Given the description of an element on the screen output the (x, y) to click on. 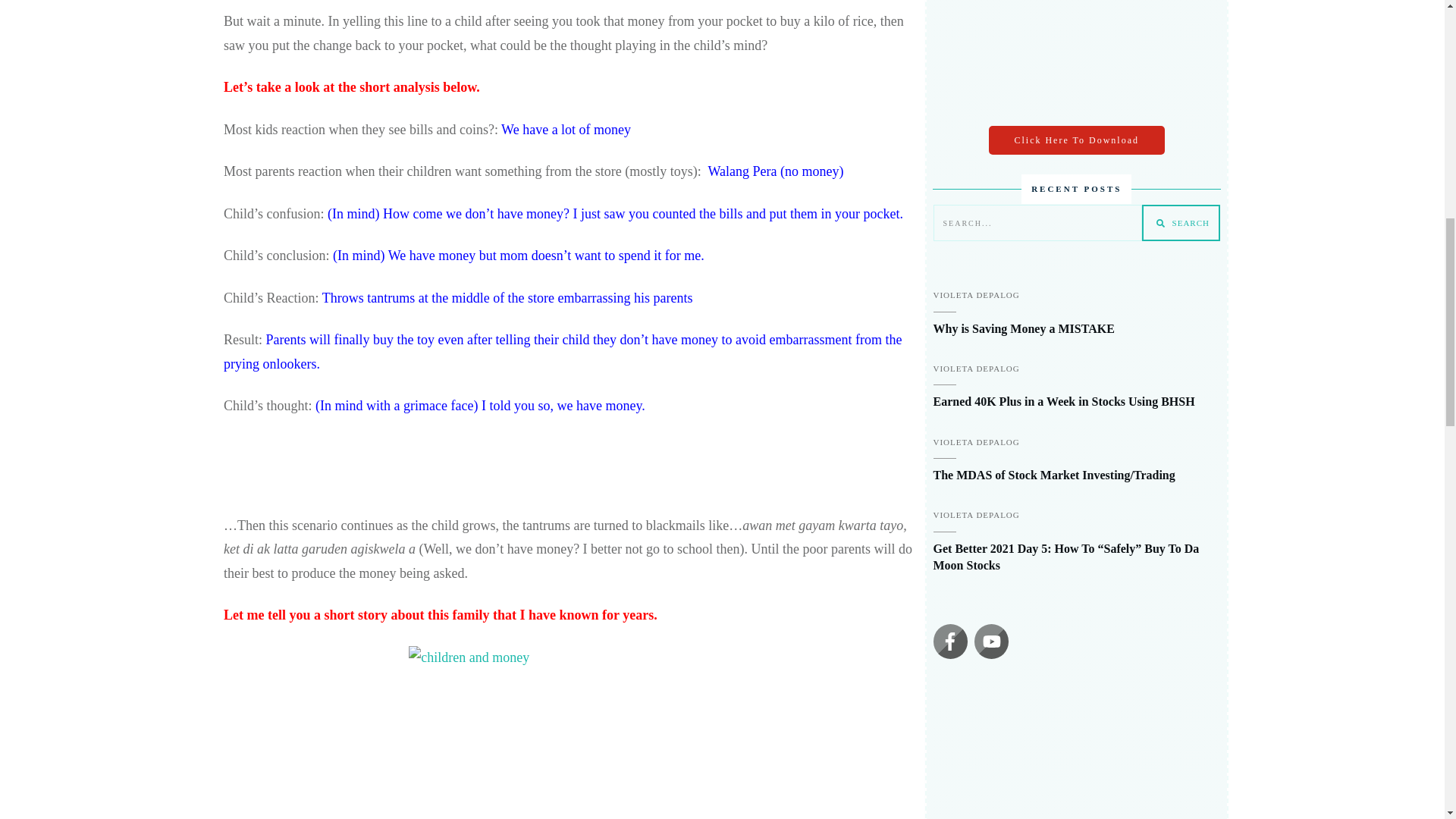
Earned 40K Plus in a Week in Stocks Using BHSH (1063, 400)
Why is Saving Money a MISTAKE (1023, 328)
Why is Saving Money a MISTAKE (1023, 328)
Click Here To Download (1076, 140)
Earned 40K Plus in a Week in Stocks Using BHSH (1063, 400)
SEARCH (1180, 222)
Responsive Video (1077, 748)
